Given the description of an element on the screen output the (x, y) to click on. 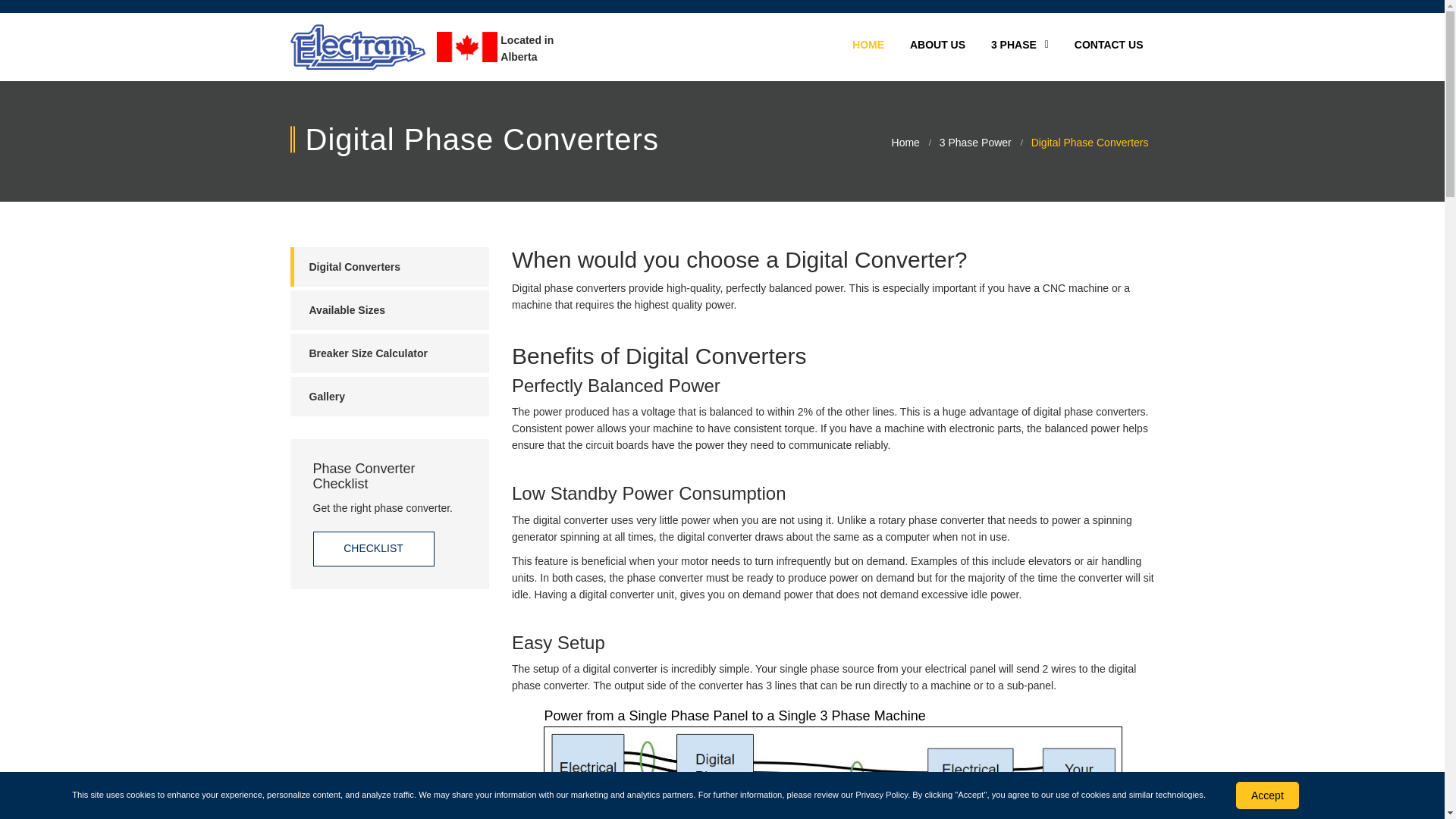
Privacy Policy (881, 794)
Home (905, 142)
CHECKLIST (373, 548)
Digital Converters (389, 266)
3 PHASE (1019, 45)
Gallery (389, 396)
Breaker Size Calculator (389, 353)
3 Phase Power (975, 142)
Accept (1267, 795)
HOME (868, 45)
CONTACT US (1108, 45)
ABOUT US (937, 45)
Available Sizes (389, 310)
